Given the description of an element on the screen output the (x, y) to click on. 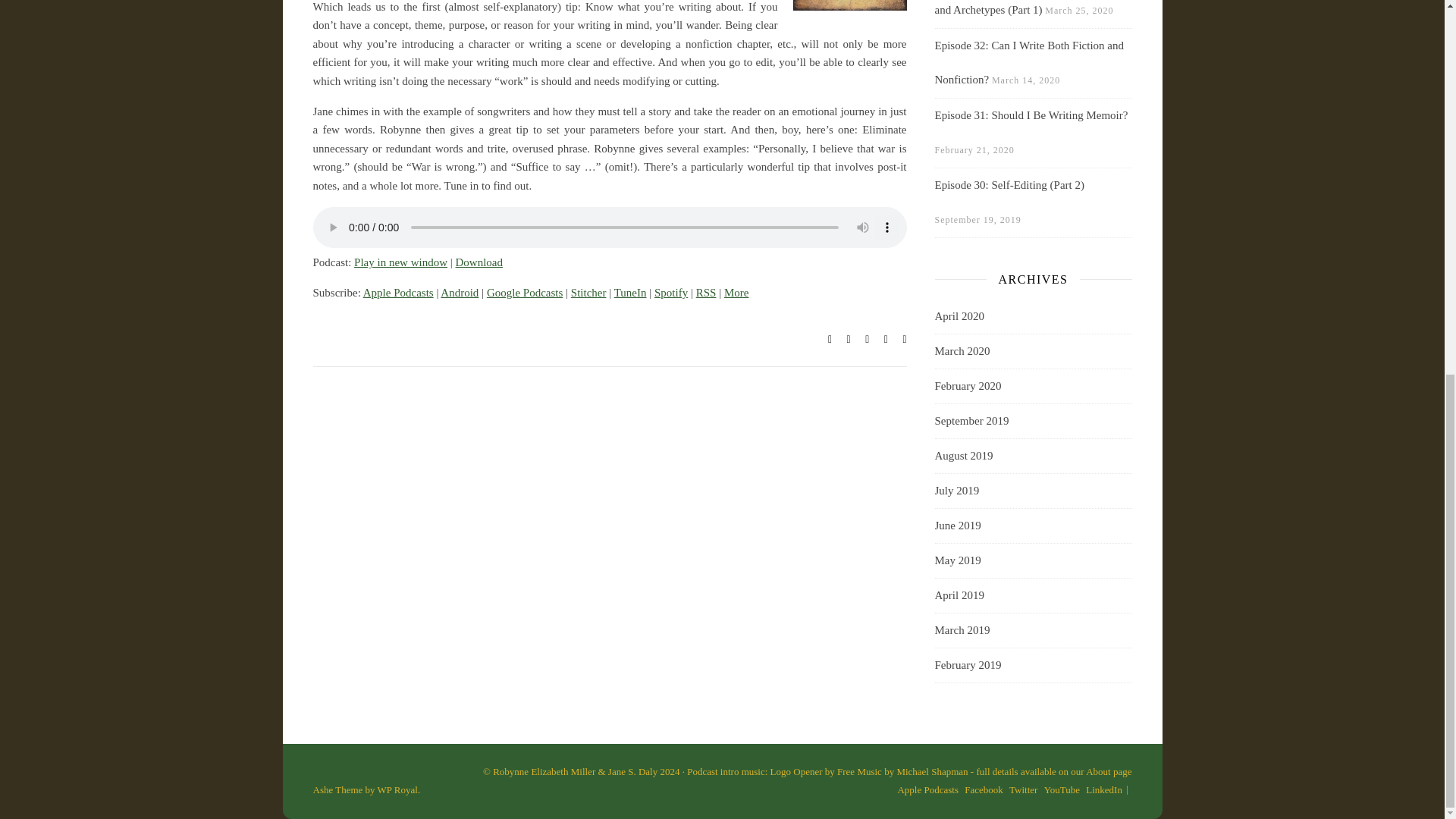
Download (479, 262)
Subscribe on Apple Podcasts (397, 292)
Subscribe on Google Podcasts (524, 292)
Subscribe on Spotify (670, 292)
More (736, 292)
Subscribe on Android (460, 292)
Subscribe via RSS (705, 292)
Subscribe on Stitcher (588, 292)
Subscribe on TuneIn (630, 292)
Play in new window (399, 262)
